Given the description of an element on the screen output the (x, y) to click on. 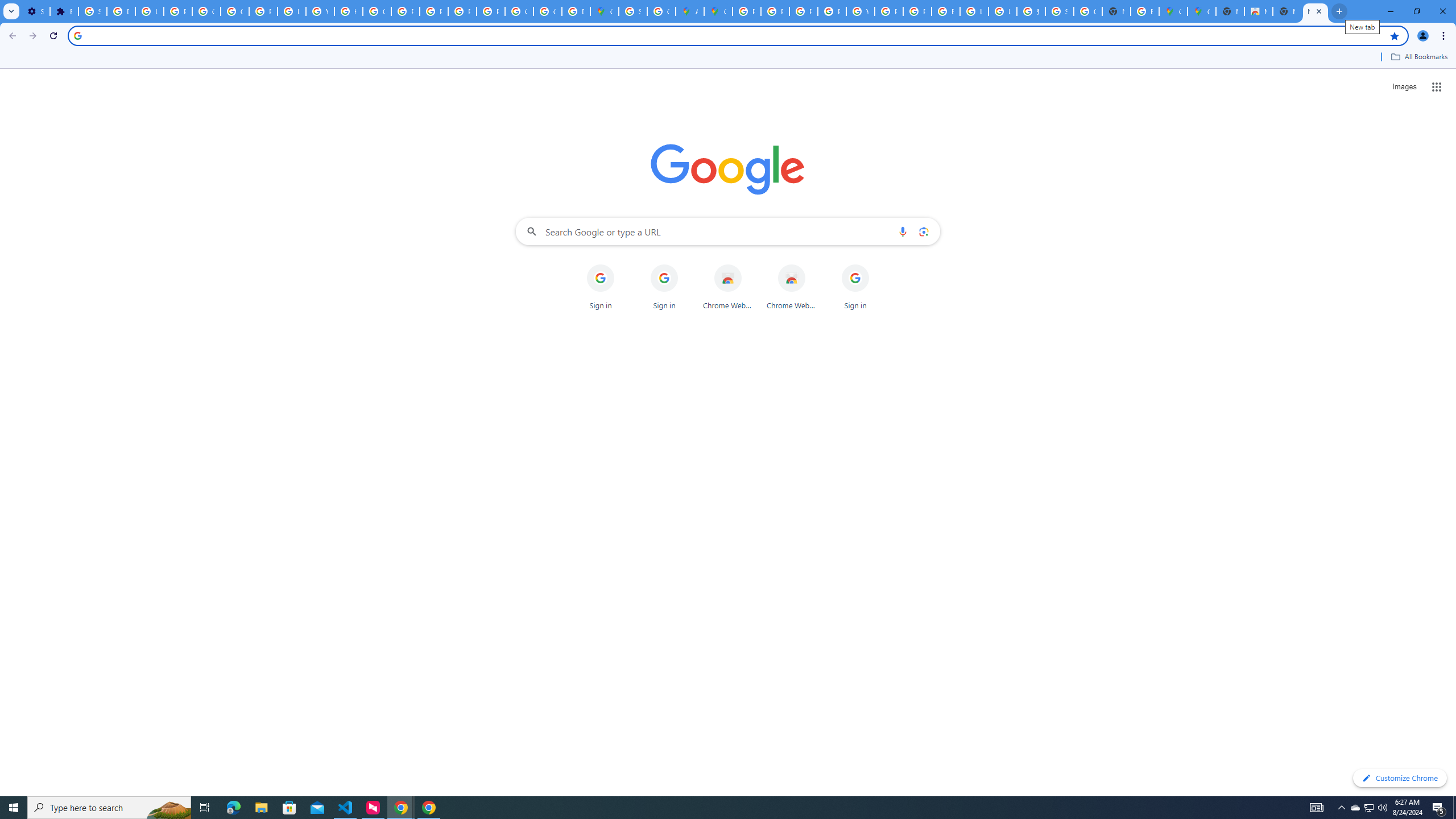
Remove (878, 265)
Sign in - Google Accounts (1058, 11)
YouTube (320, 11)
Sign in - Google Accounts (632, 11)
